Given the description of an element on the screen output the (x, y) to click on. 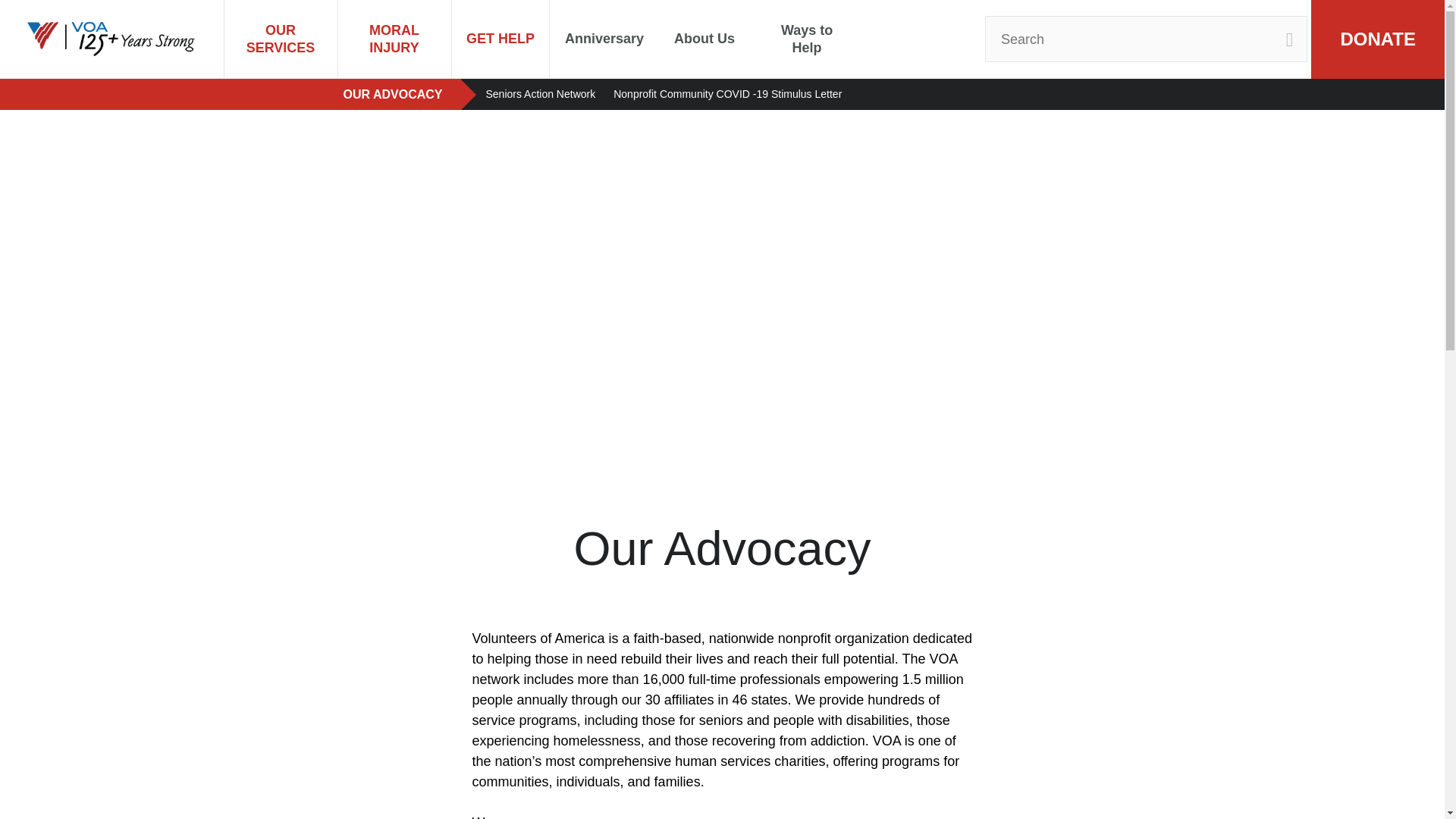
Anniversary (604, 38)
About Us (704, 38)
GET HELP (500, 38)
OUR SERVICES (280, 38)
MORAL INJURY (394, 38)
